Given the description of an element on the screen output the (x, y) to click on. 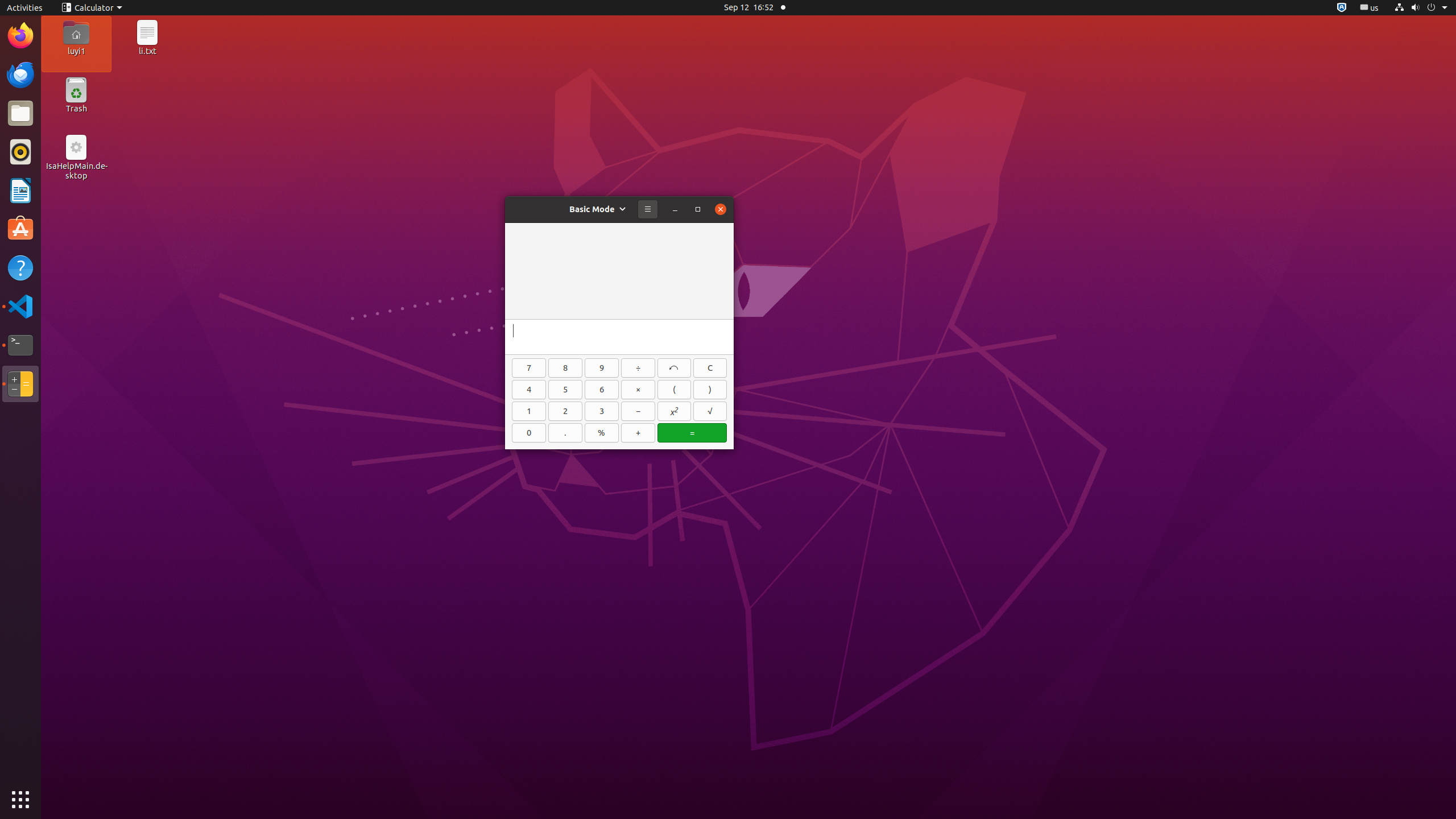
. Element type: push-button (565, 432)
